Given the description of an element on the screen output the (x, y) to click on. 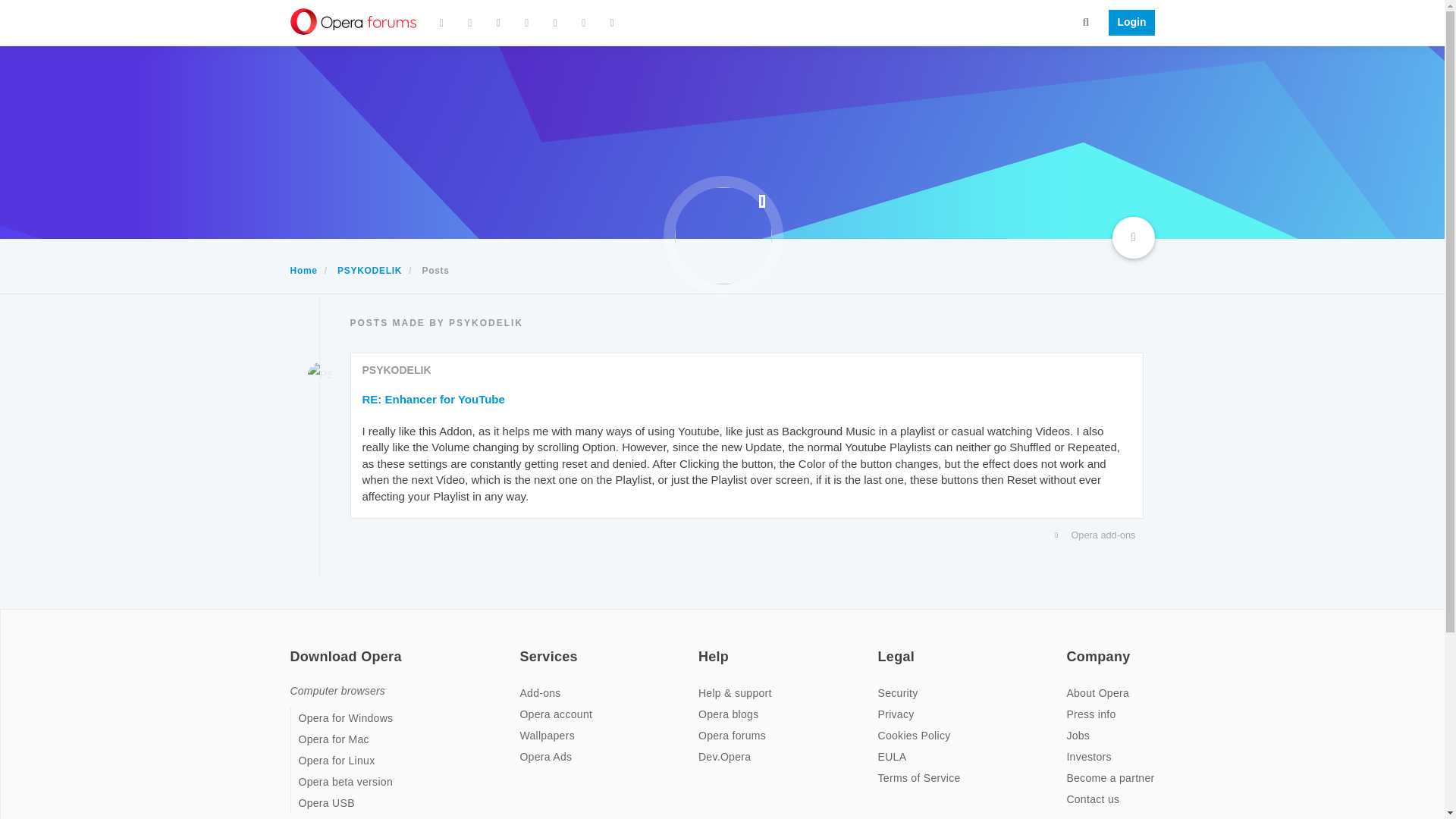
Opera USB (326, 802)
Login (1127, 22)
on (702, 646)
on (523, 646)
Opera for Mac (333, 739)
Computer browsers (337, 690)
on (881, 646)
on (293, 646)
Opera beta version (345, 781)
Home (303, 270)
on (1070, 646)
PSYKODELIK (396, 369)
PSYKODELIK (369, 270)
Search (1085, 21)
PSYKODELIK (319, 374)
